Given the description of an element on the screen output the (x, y) to click on. 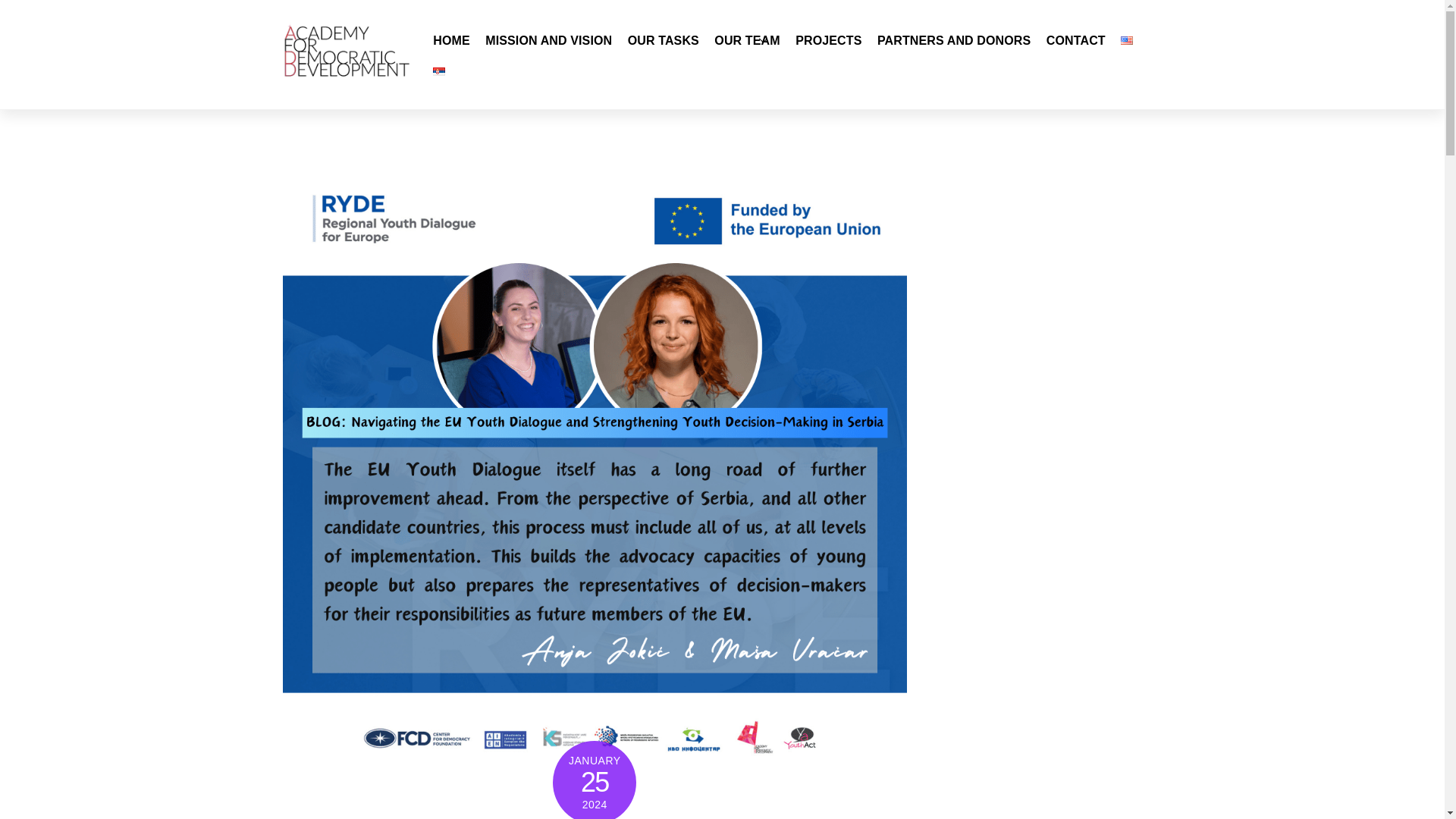
HOME (451, 38)
PARTNERS AND DONORS (953, 38)
add png (346, 51)
OUR TASKS (662, 38)
PROJECTS (827, 38)
OUR TEAM (746, 38)
MISSION AND VISION (547, 38)
CONTACT (1075, 38)
